Given the description of an element on the screen output the (x, y) to click on. 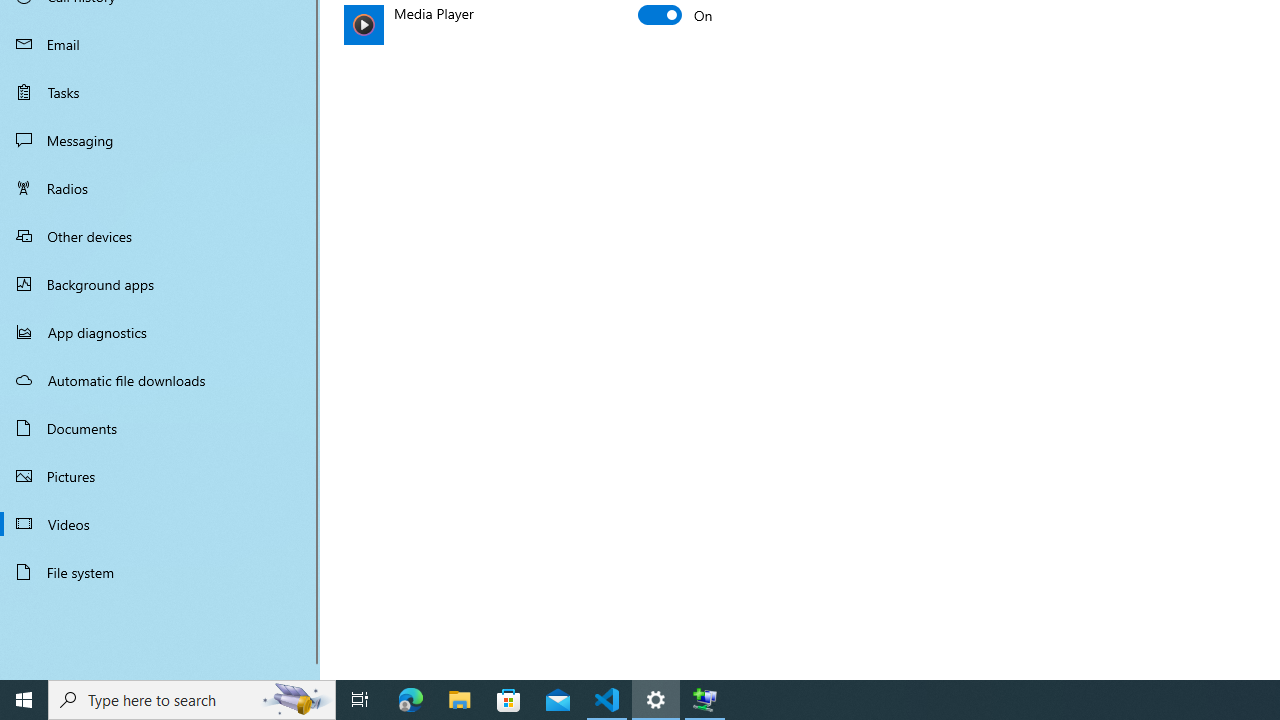
Automatic file downloads (160, 379)
Documents (160, 427)
Messaging (160, 139)
Pictures (160, 475)
Tasks (160, 91)
Radios (160, 187)
File system (160, 571)
Email (160, 43)
Extensible Wizards Host Process - 1 running window (704, 699)
